Given the description of an element on the screen output the (x, y) to click on. 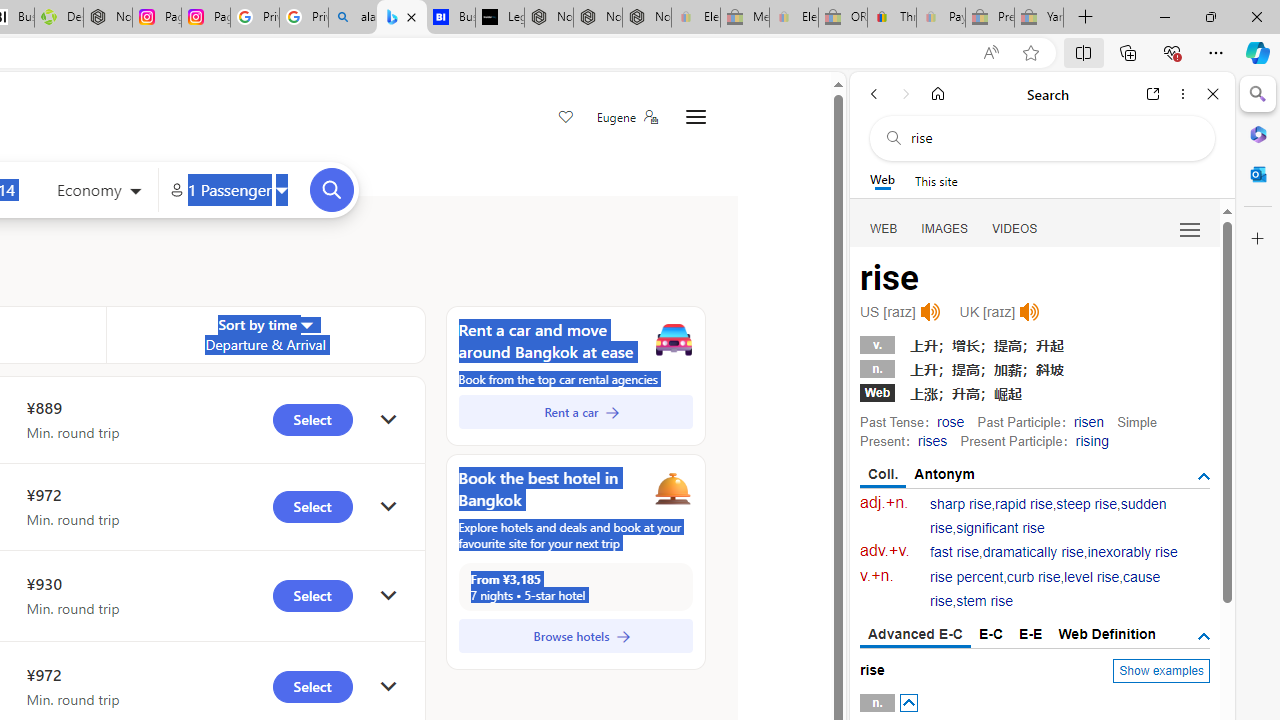
rises (932, 440)
Sorter (306, 324)
dramatically rise (1032, 552)
Rent a car (575, 412)
VIDEOS (1015, 228)
rose (950, 421)
significant rise (1000, 528)
1 Passenger (228, 189)
Microsoft Bing Travel - Flights from Hong Kong to Bangkok (401, 17)
Threats and offensive language policy | eBay (891, 17)
